Given the description of an element on the screen output the (x, y) to click on. 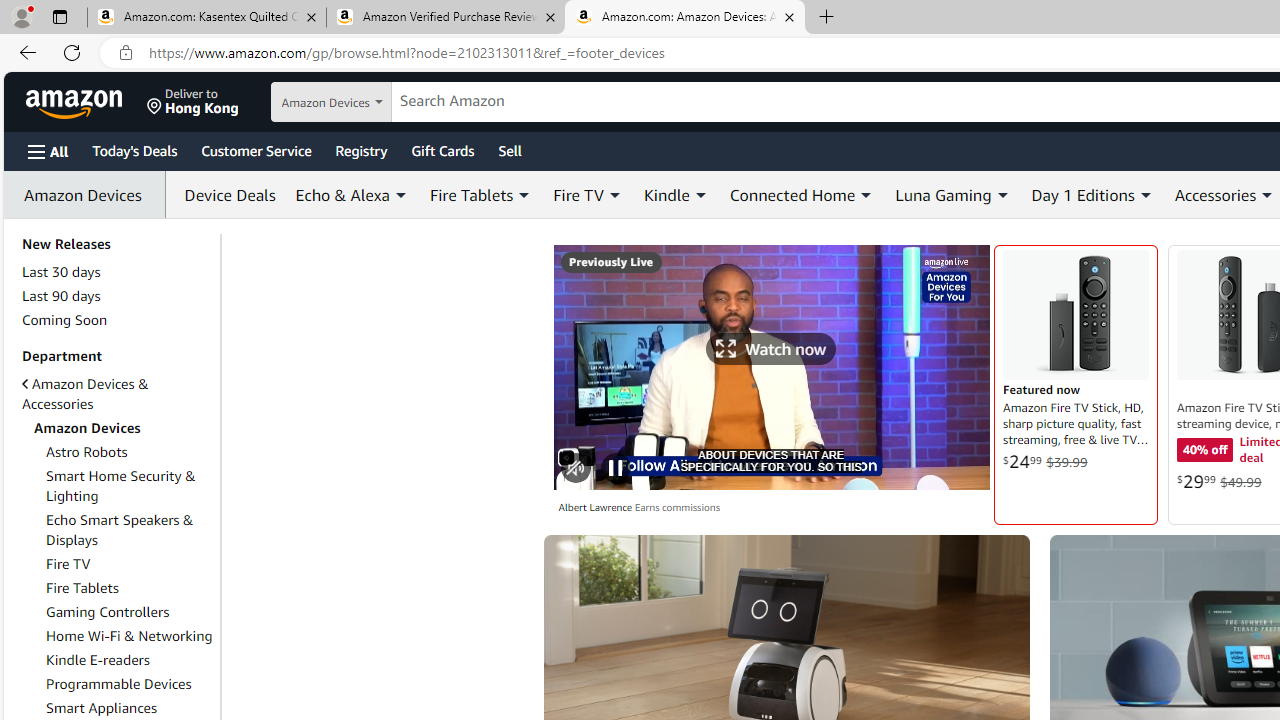
Kindle E-readers (97, 659)
Expand Echo & Alexa (400, 195)
Kindle E-readers (129, 660)
Astro Robots (87, 451)
Last 30 days (117, 272)
Last 90 days (117, 295)
Connected Home (792, 194)
Amazon Devices & Accessories (117, 393)
Deliver to Hong Kong (193, 101)
Tap Watch now to see broadcast in immersive view (771, 348)
Device Deals (224, 194)
Registry (360, 150)
Day 1 Editions (1092, 194)
